Given the description of an element on the screen output the (x, y) to click on. 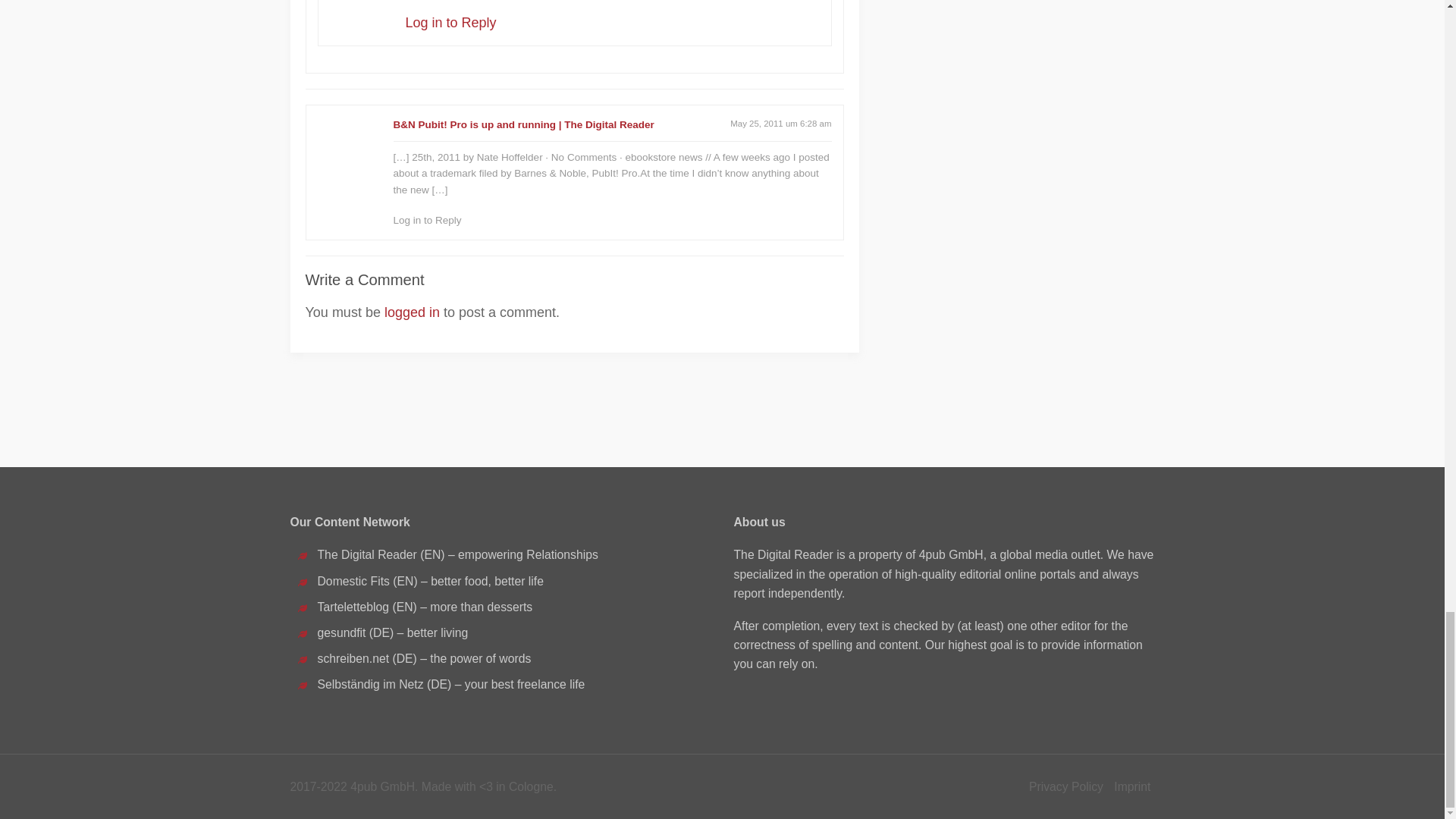
logged in (411, 312)
Log in to Reply (450, 22)
Log in to Reply (427, 220)
